Given the description of an element on the screen output the (x, y) to click on. 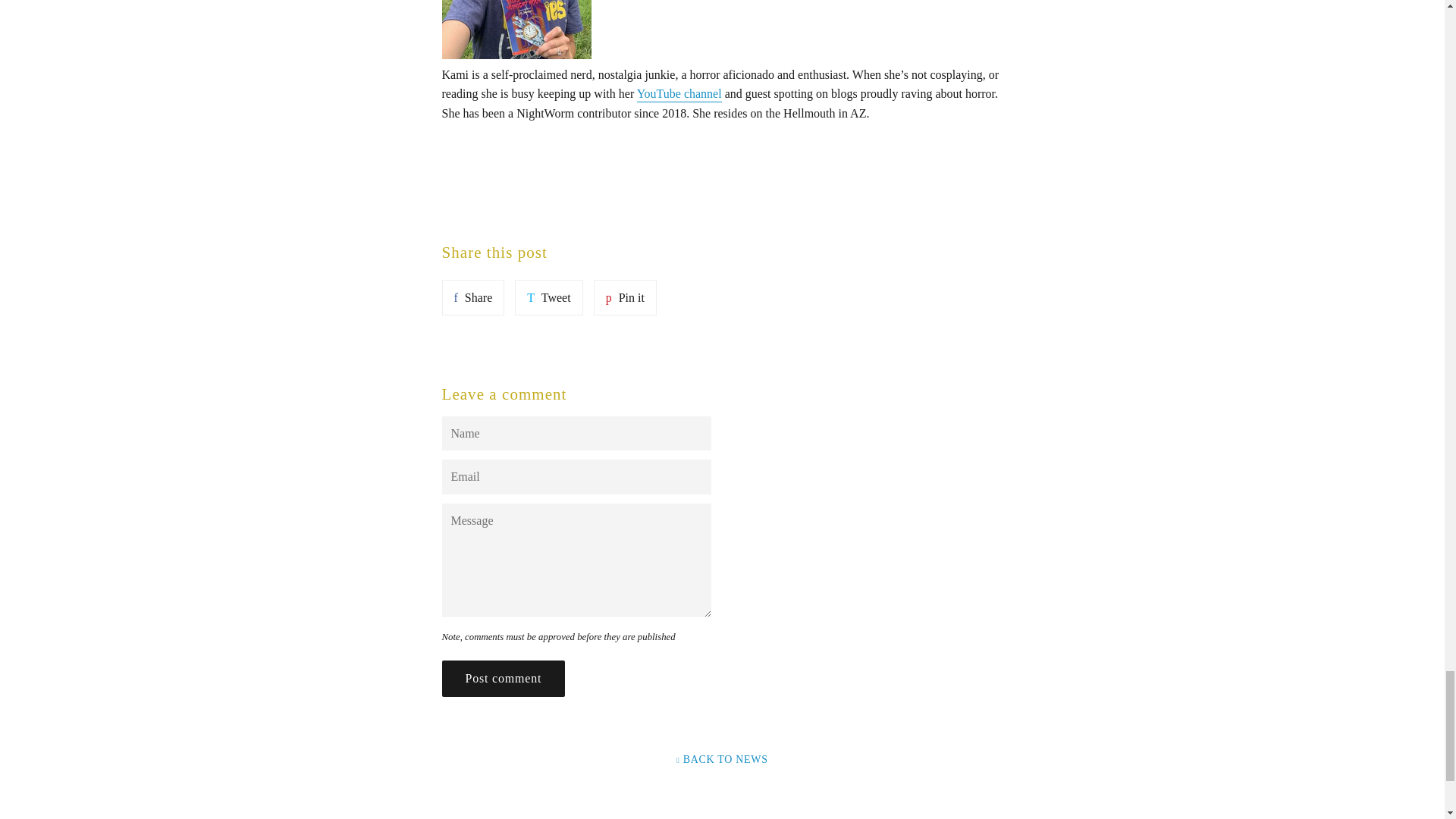
Share on Facebook (472, 298)
Pin on Pinterest (625, 298)
Tweet on Twitter (548, 298)
Post comment (502, 678)
